Given the description of an element on the screen output the (x, y) to click on. 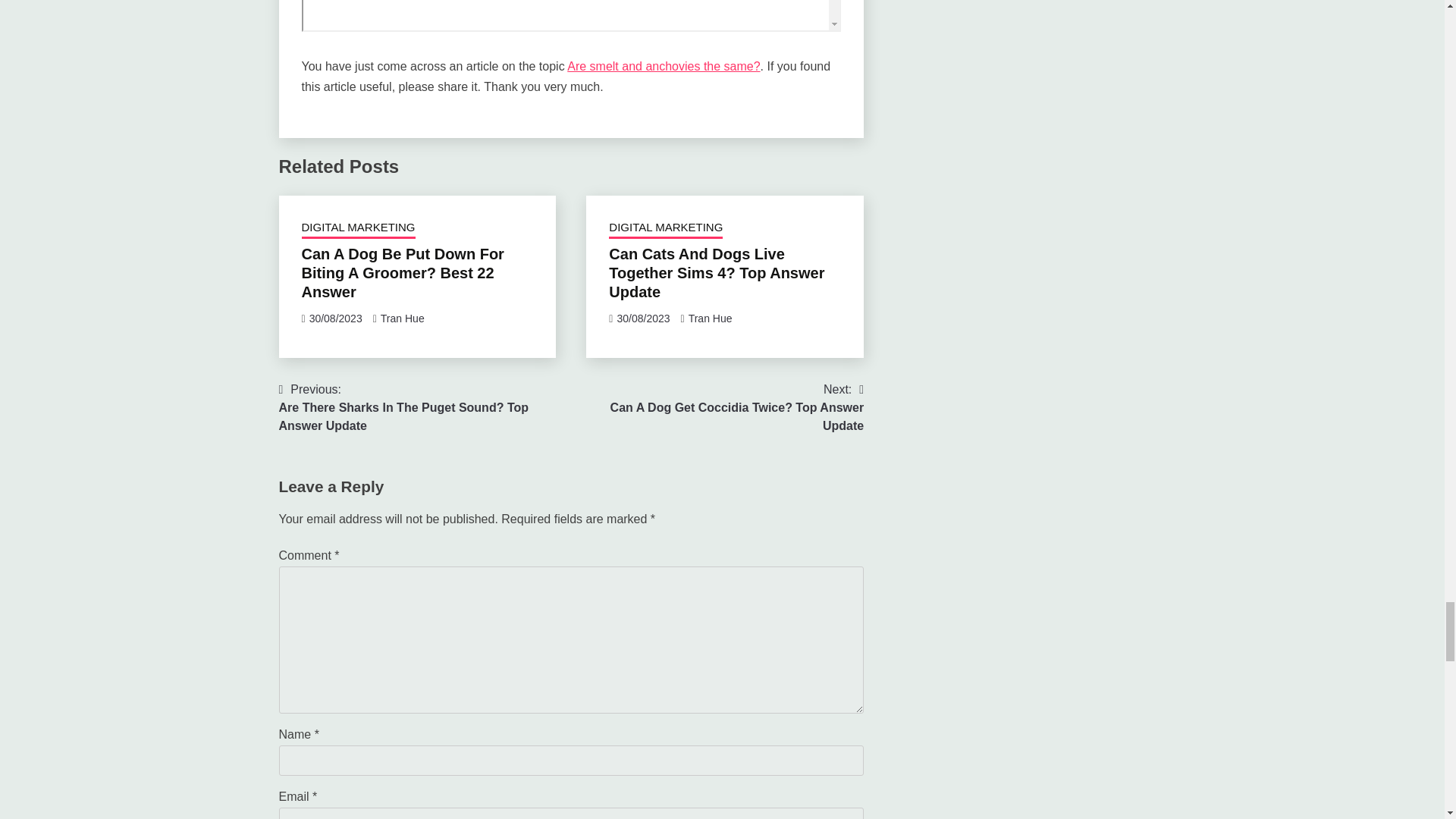
Tran Hue (710, 318)
DIGITAL MARKETING (665, 229)
DIGITAL MARKETING (357, 229)
Can A Dog Be Put Down For Biting A Groomer? Best 22 Answer (402, 272)
Can Cats And Dogs Live Together Sims 4? Top Answer Update (716, 272)
Are smelt and anchovies the same? (571, 15)
Tran Hue (402, 318)
Are smelt and anchovies the same? (663, 65)
